Given the description of an element on the screen output the (x, y) to click on. 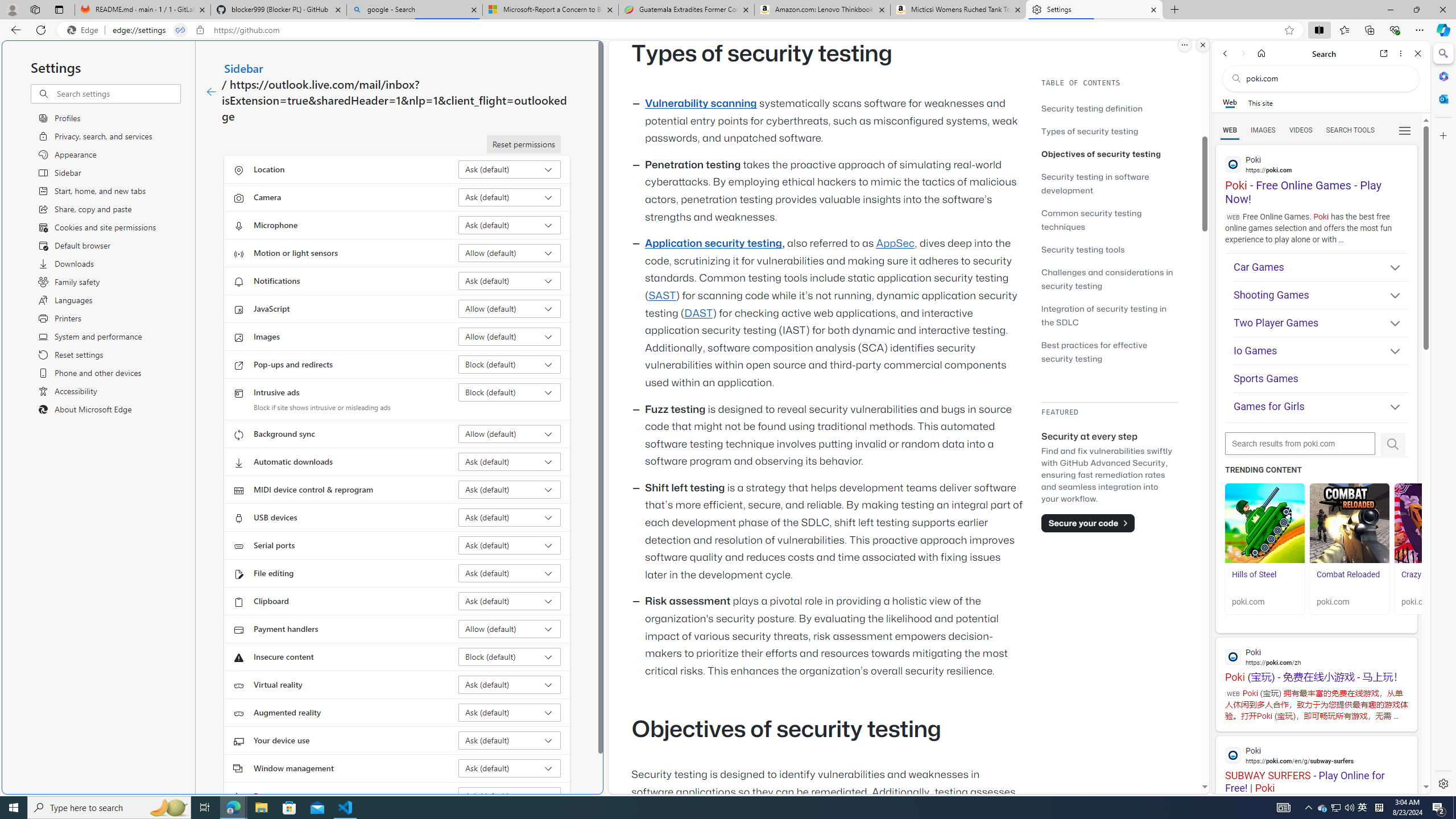
Location Ask (default) (509, 169)
Combat Reloaded (1348, 574)
Combat Reloaded (1349, 580)
Payment handlers Allow (default) (509, 628)
Objectives of security testing (1109, 153)
Common security testing techniques (1109, 219)
Search results from poki.com (1299, 443)
USB devices Ask (default) (509, 517)
Car Games (1320, 267)
